Given the description of an element on the screen output the (x, y) to click on. 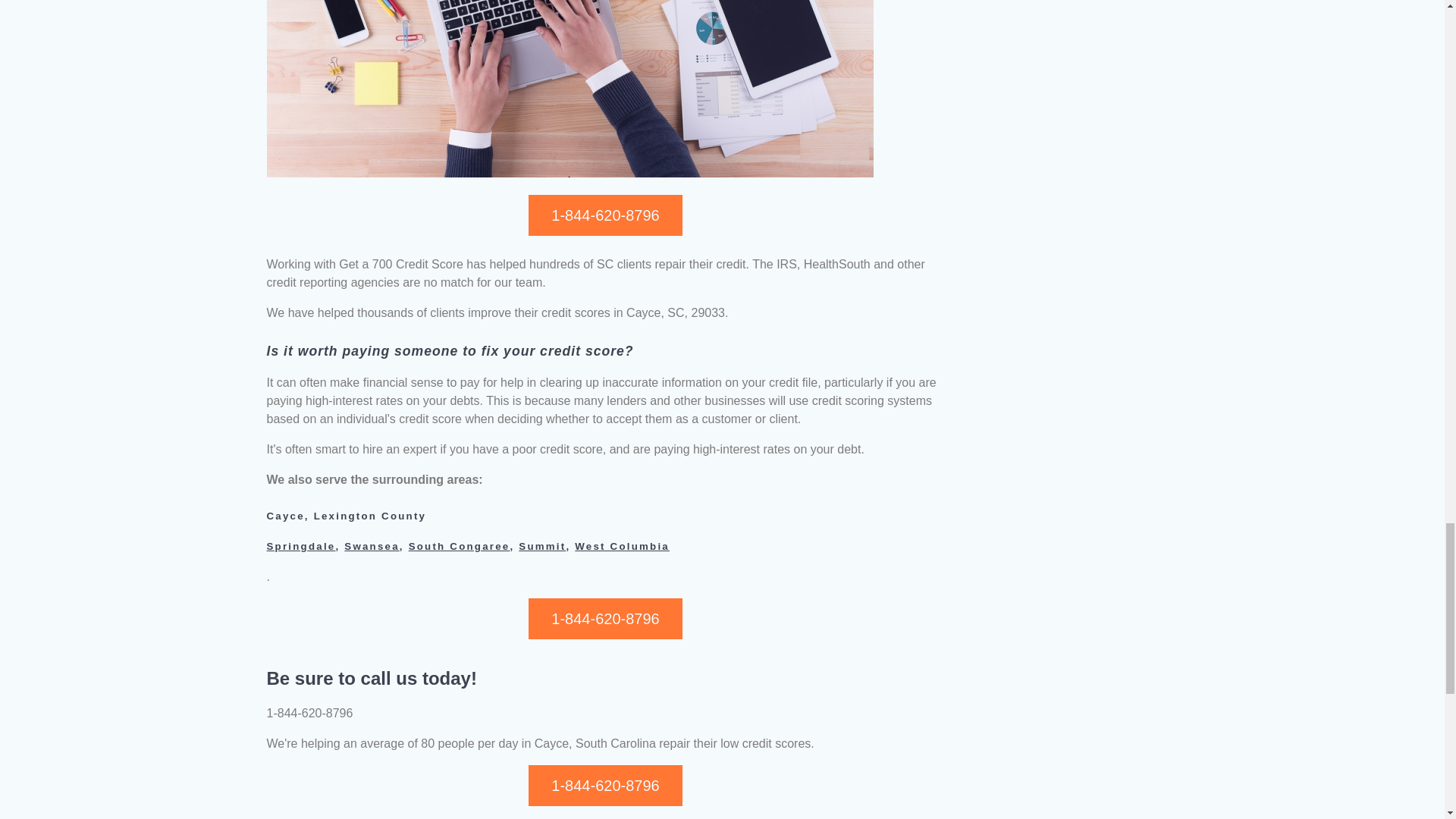
Swansea (370, 546)
West Columbia (622, 546)
1-844-620-8796 (604, 214)
South Congaree (460, 546)
1-844-620-8796 (604, 784)
Summit (542, 546)
1-844-620-8796 (604, 618)
Springdale (301, 546)
